Given the description of an element on the screen output the (x, y) to click on. 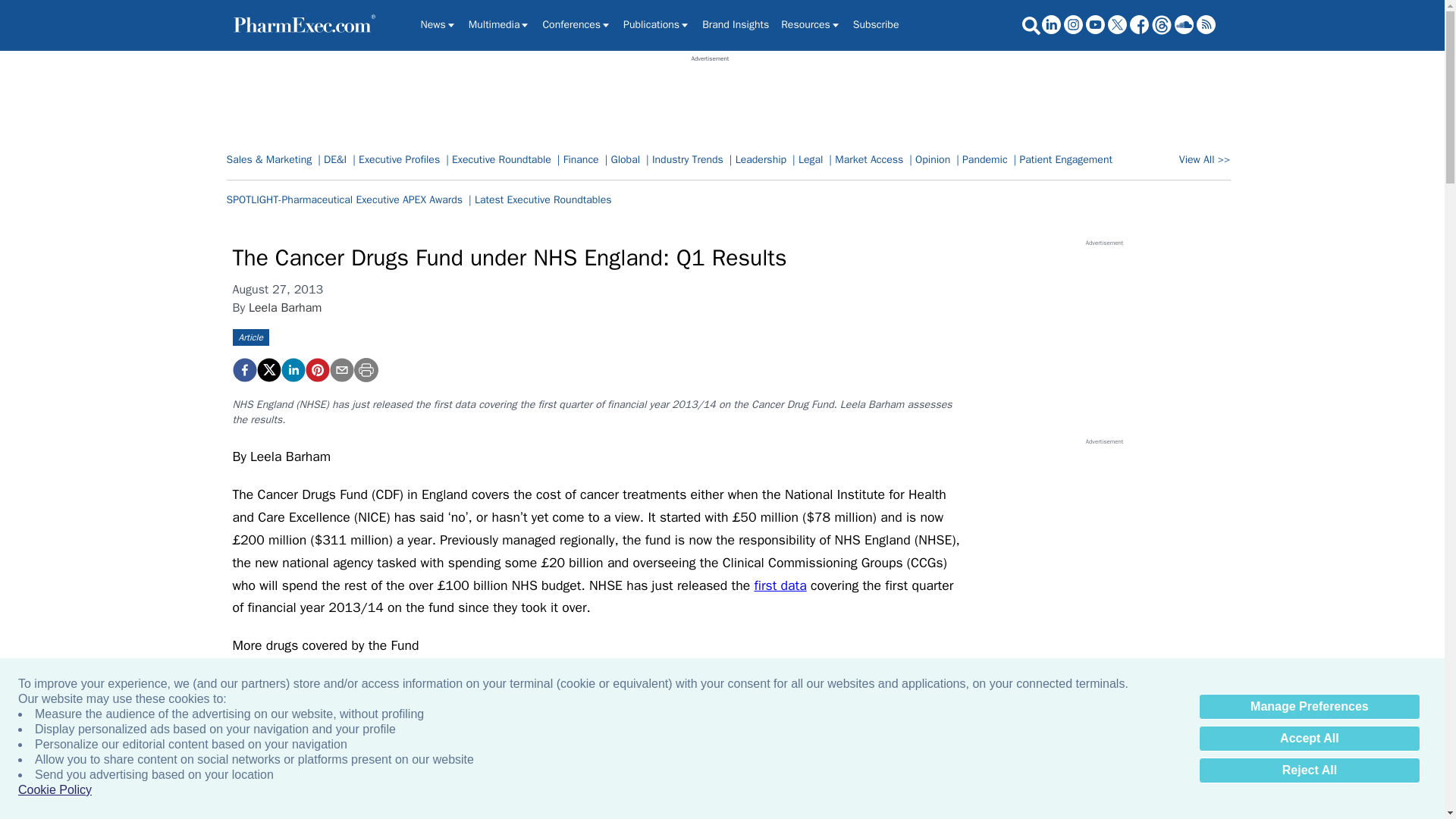
Reject All (1309, 769)
Brand Insights (734, 23)
3rd party ad content (1103, 540)
Accept All (1309, 738)
The Cancer Drugs Fund under NHS England: Q1 Results (243, 369)
Cookie Policy (54, 789)
Subscribe (876, 23)
3rd party ad content (709, 97)
The Cancer Drugs Fund under NHS England: Q1 Results (316, 369)
3rd party ad content (1103, 341)
Manage Preferences (1309, 706)
